Given the description of an element on the screen output the (x, y) to click on. 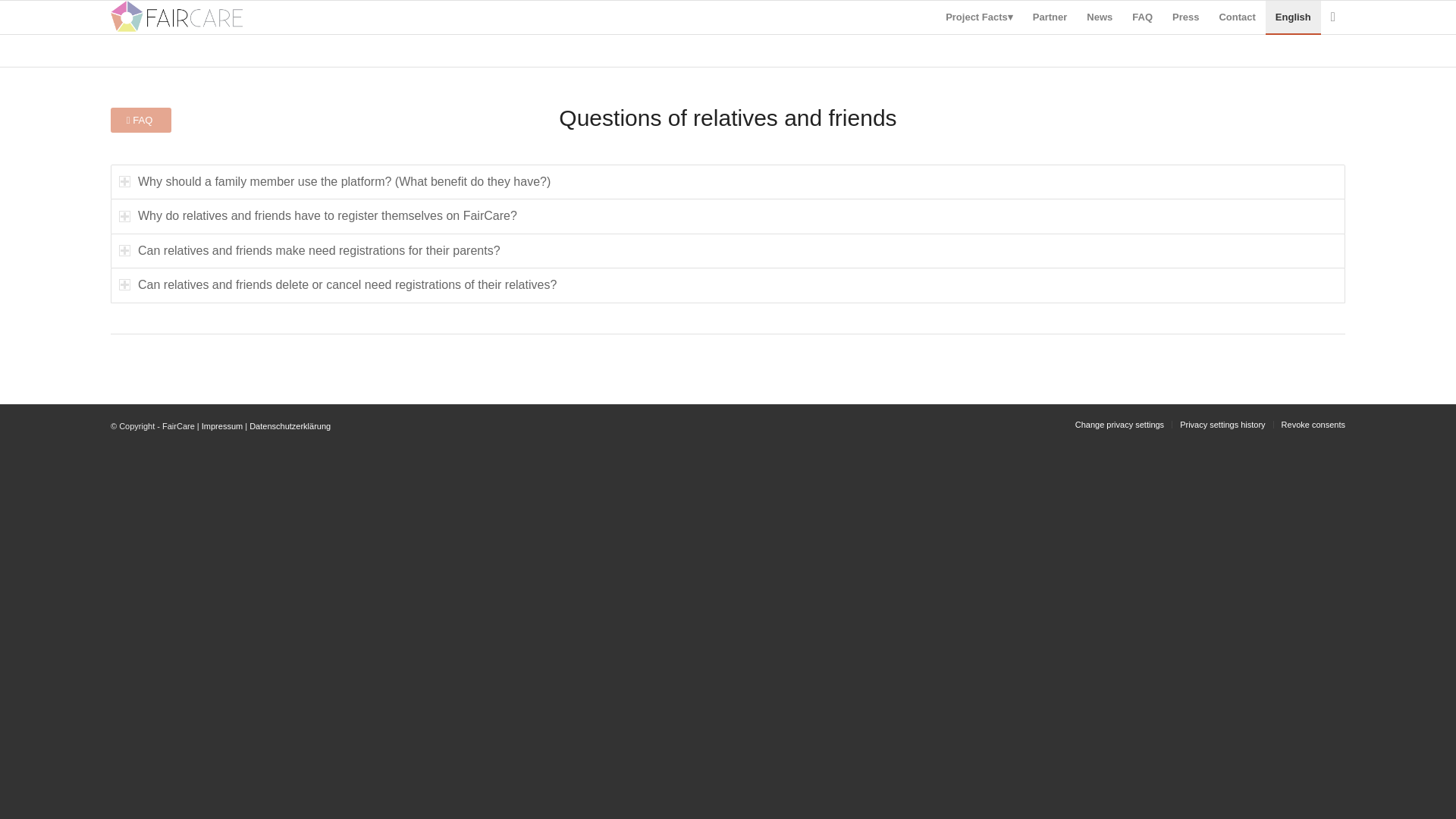
FAQ (140, 119)
Press (1184, 17)
Contact (1236, 17)
Change privacy settings (1119, 424)
English (1292, 17)
English (1292, 17)
Impressum (222, 425)
News (1099, 17)
Privacy settings history (1222, 424)
Partner (1050, 17)
Revoke consents (1313, 424)
FAQ (1141, 17)
